Given the description of an element on the screen output the (x, y) to click on. 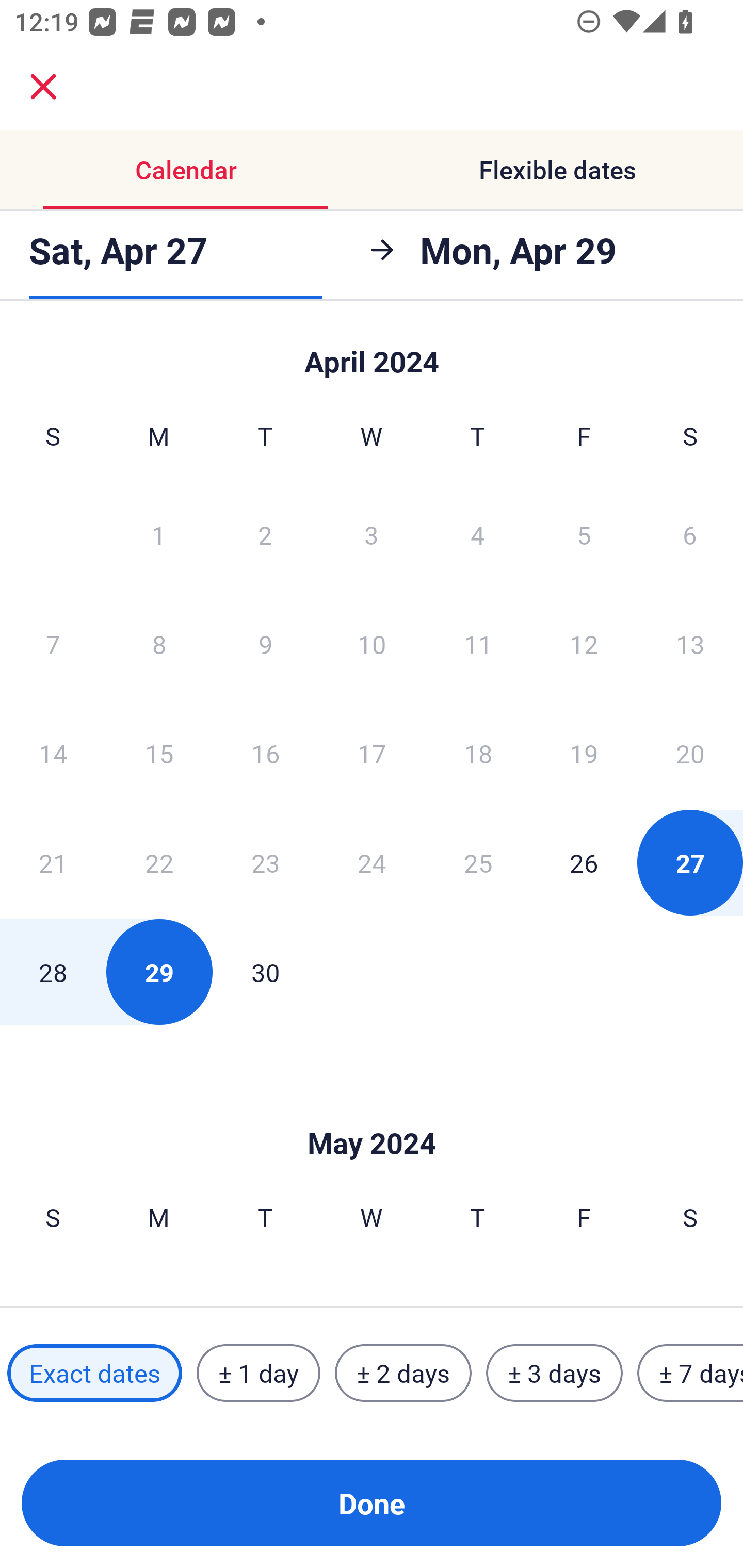
close. (43, 86)
Flexible dates (557, 170)
Skip to Done (371, 352)
1 Monday, April 1, 2024 (158, 534)
2 Tuesday, April 2, 2024 (264, 534)
3 Wednesday, April 3, 2024 (371, 534)
4 Thursday, April 4, 2024 (477, 534)
5 Friday, April 5, 2024 (583, 534)
6 Saturday, April 6, 2024 (689, 534)
7 Sunday, April 7, 2024 (53, 643)
8 Monday, April 8, 2024 (159, 643)
9 Tuesday, April 9, 2024 (265, 643)
10 Wednesday, April 10, 2024 (371, 643)
11 Thursday, April 11, 2024 (477, 643)
12 Friday, April 12, 2024 (584, 643)
13 Saturday, April 13, 2024 (690, 643)
14 Sunday, April 14, 2024 (53, 752)
15 Monday, April 15, 2024 (159, 752)
16 Tuesday, April 16, 2024 (265, 752)
17 Wednesday, April 17, 2024 (371, 752)
18 Thursday, April 18, 2024 (477, 752)
19 Friday, April 19, 2024 (584, 752)
20 Saturday, April 20, 2024 (690, 752)
21 Sunday, April 21, 2024 (53, 862)
22 Monday, April 22, 2024 (159, 862)
23 Tuesday, April 23, 2024 (265, 862)
24 Wednesday, April 24, 2024 (371, 862)
25 Thursday, April 25, 2024 (477, 862)
26 Friday, April 26, 2024 (584, 862)
30 Tuesday, April 30, 2024 (265, 971)
Skip to Done (371, 1112)
Exact dates (94, 1372)
± 1 day (258, 1372)
± 2 days (403, 1372)
± 3 days (553, 1372)
± 7 days (690, 1372)
Done (371, 1502)
